Given the description of an element on the screen output the (x, y) to click on. 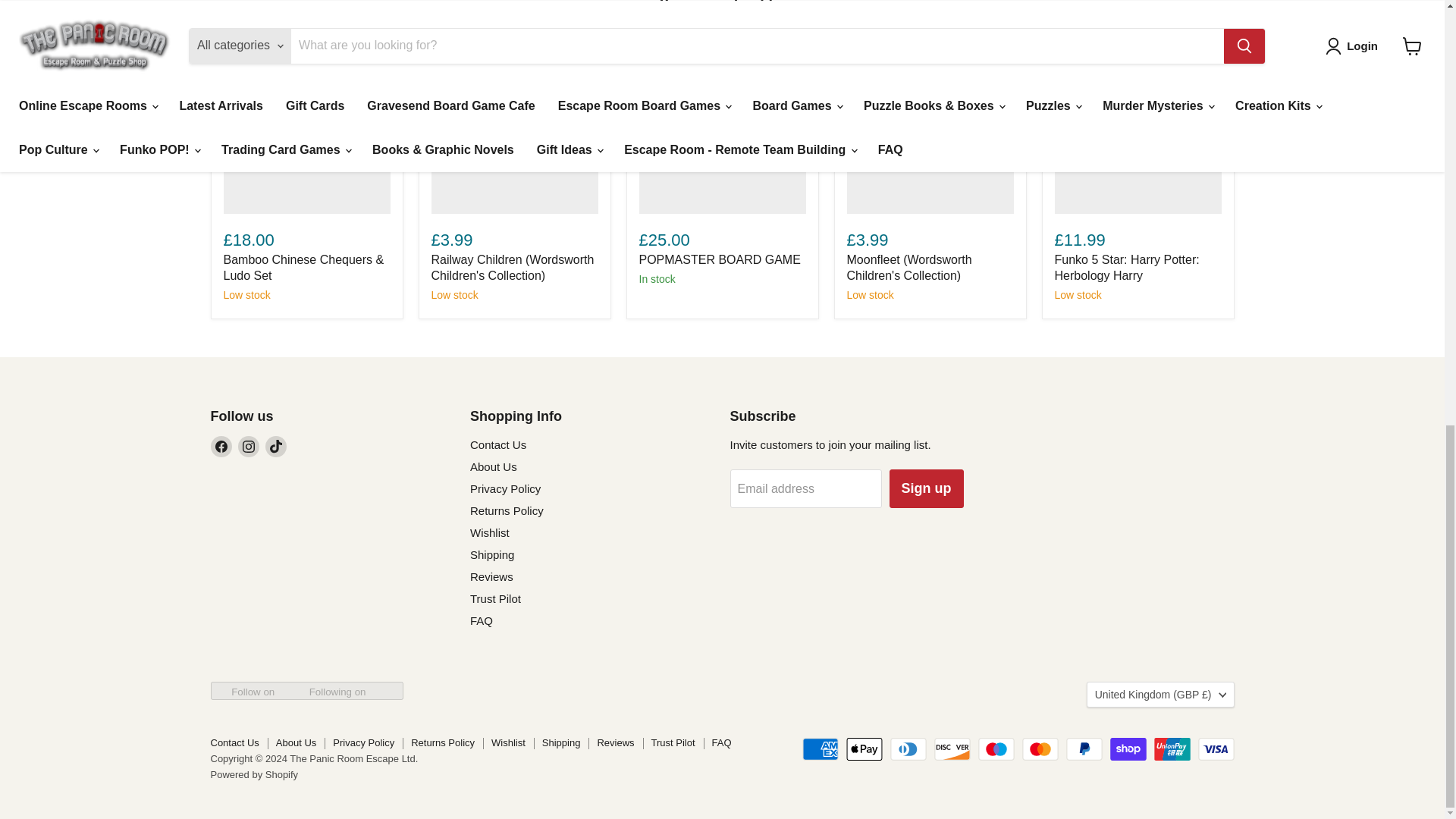
Facebook (221, 446)
TikTok (275, 446)
Instagram (248, 446)
